Given the description of an element on the screen output the (x, y) to click on. 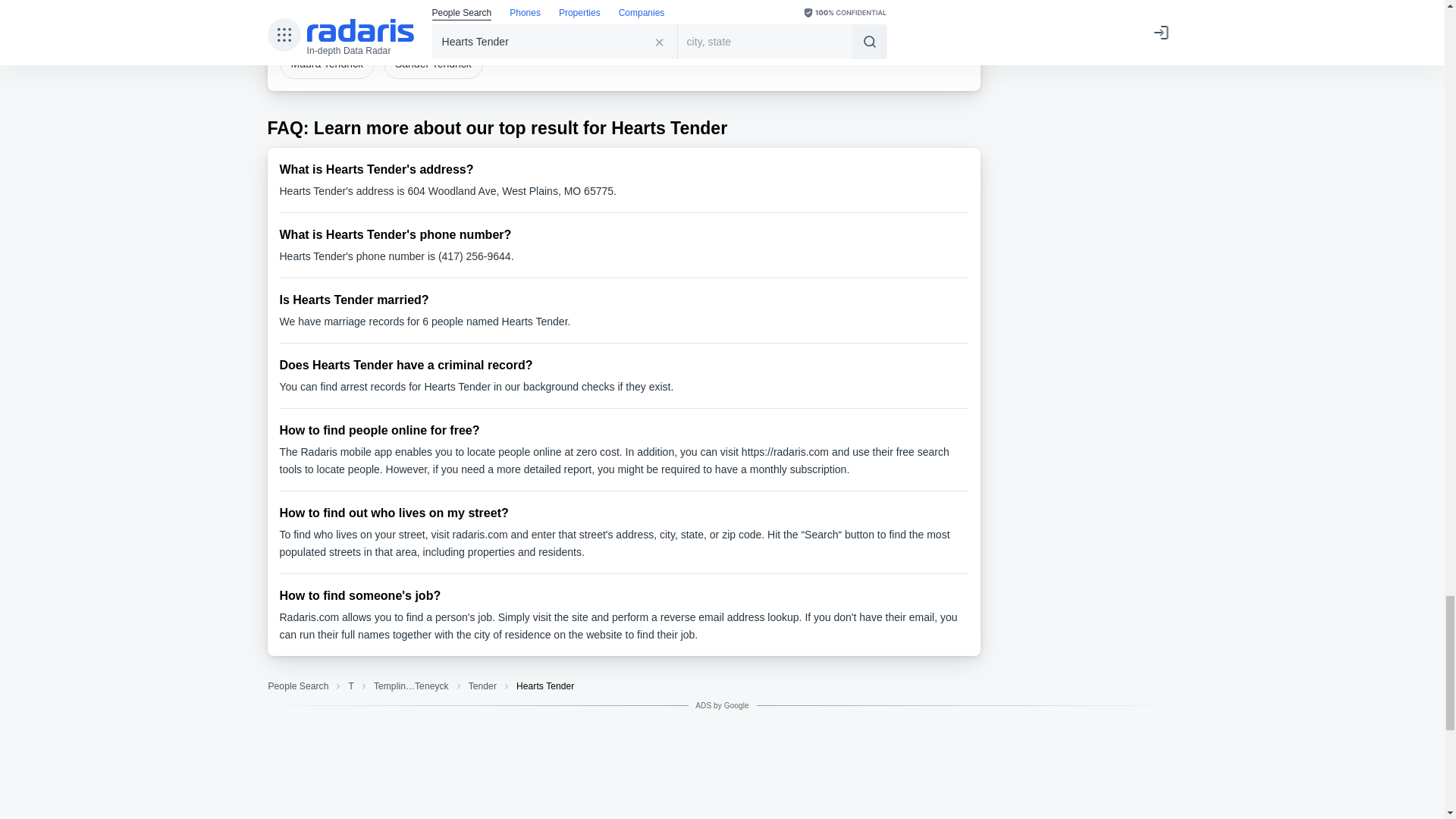
Joan Tenedine (527, 26)
Tender (482, 686)
Maura Tendrick (326, 63)
Sander Tendrick (433, 63)
People Search (297, 686)
John Tenedine (628, 26)
T (349, 686)
Joseph Tenedine (734, 26)
Joshua Tenedine (846, 26)
Gina Tenedine (324, 26)
